Given the description of an element on the screen output the (x, y) to click on. 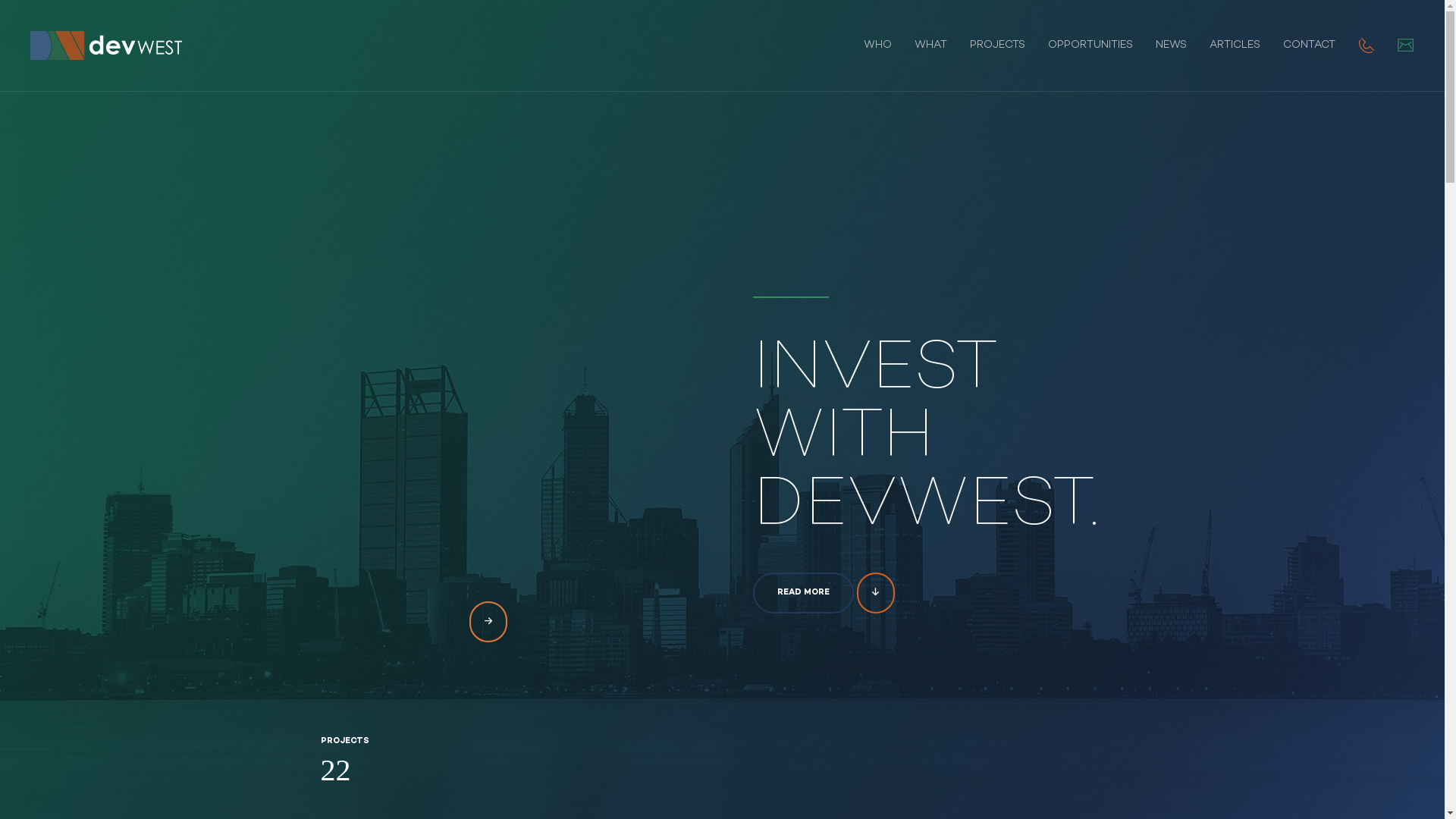
CONTACT Element type: text (1308, 45)
READ MORE Element type: text (802, 592)
OPPORTUNITIES Element type: text (1090, 45)
PROJECTS Element type: text (997, 45)
WHO Element type: text (877, 45)
NEWS Element type: text (1171, 45)
WHAT Element type: text (930, 45)
ARTICLES Element type: text (1234, 45)
